Given the description of an element on the screen output the (x, y) to click on. 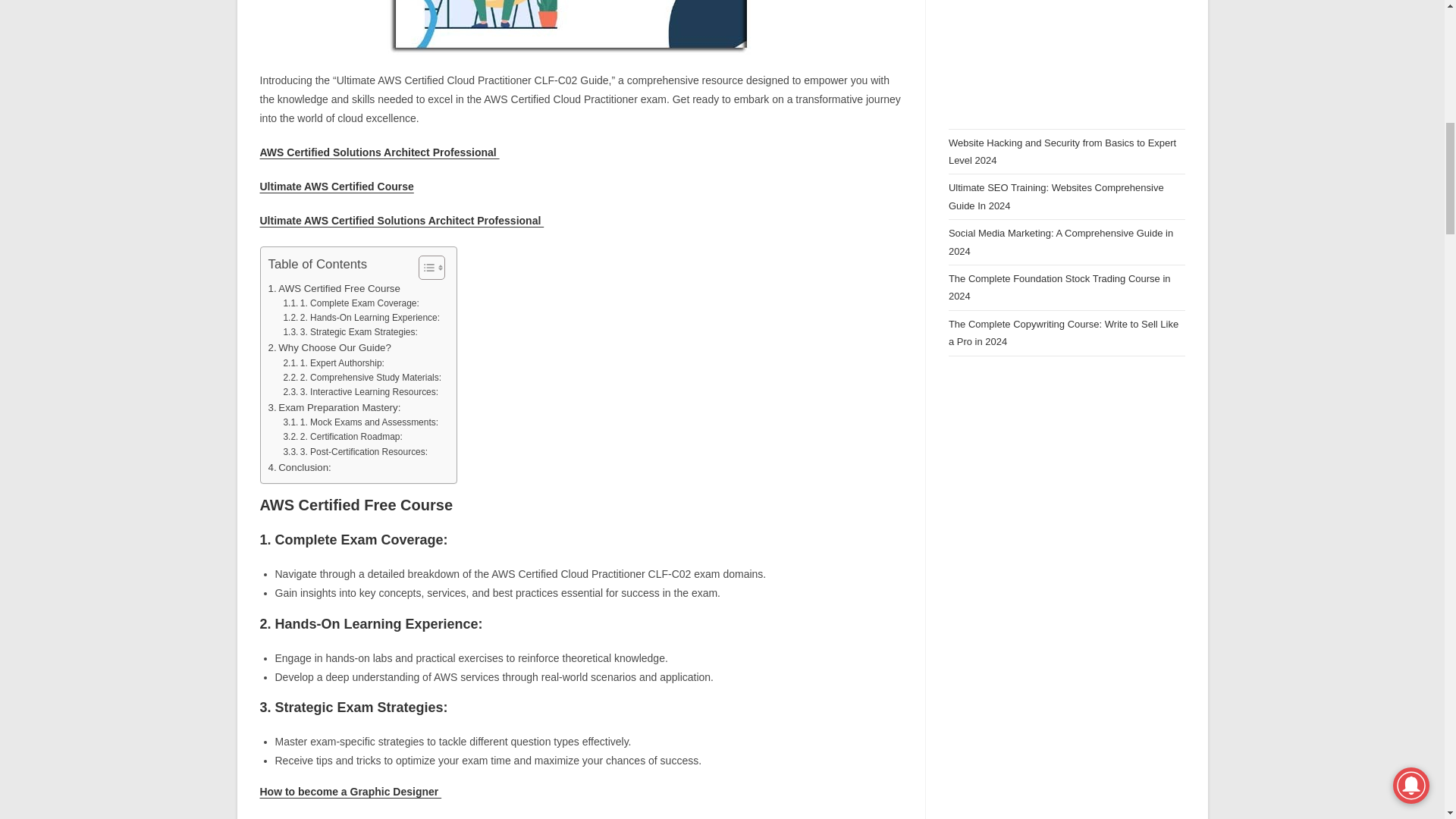
AWS Certified Free Course (333, 288)
1. Complete Exam Coverage: (350, 303)
2. Hands-On Learning Experience: (360, 318)
1. Expert Authorship: (333, 363)
3. Interactive Learning Resources: (360, 391)
AWS Certified Free Course Download in 2024 (580, 28)
3. Strategic Exam Strategies: (349, 332)
Why Choose Our Guide? (329, 347)
1. Mock Exams and Assessments: (360, 422)
Exam Preparation Mastery: (334, 407)
2. Comprehensive Study Materials: (361, 377)
